Given the description of an element on the screen output the (x, y) to click on. 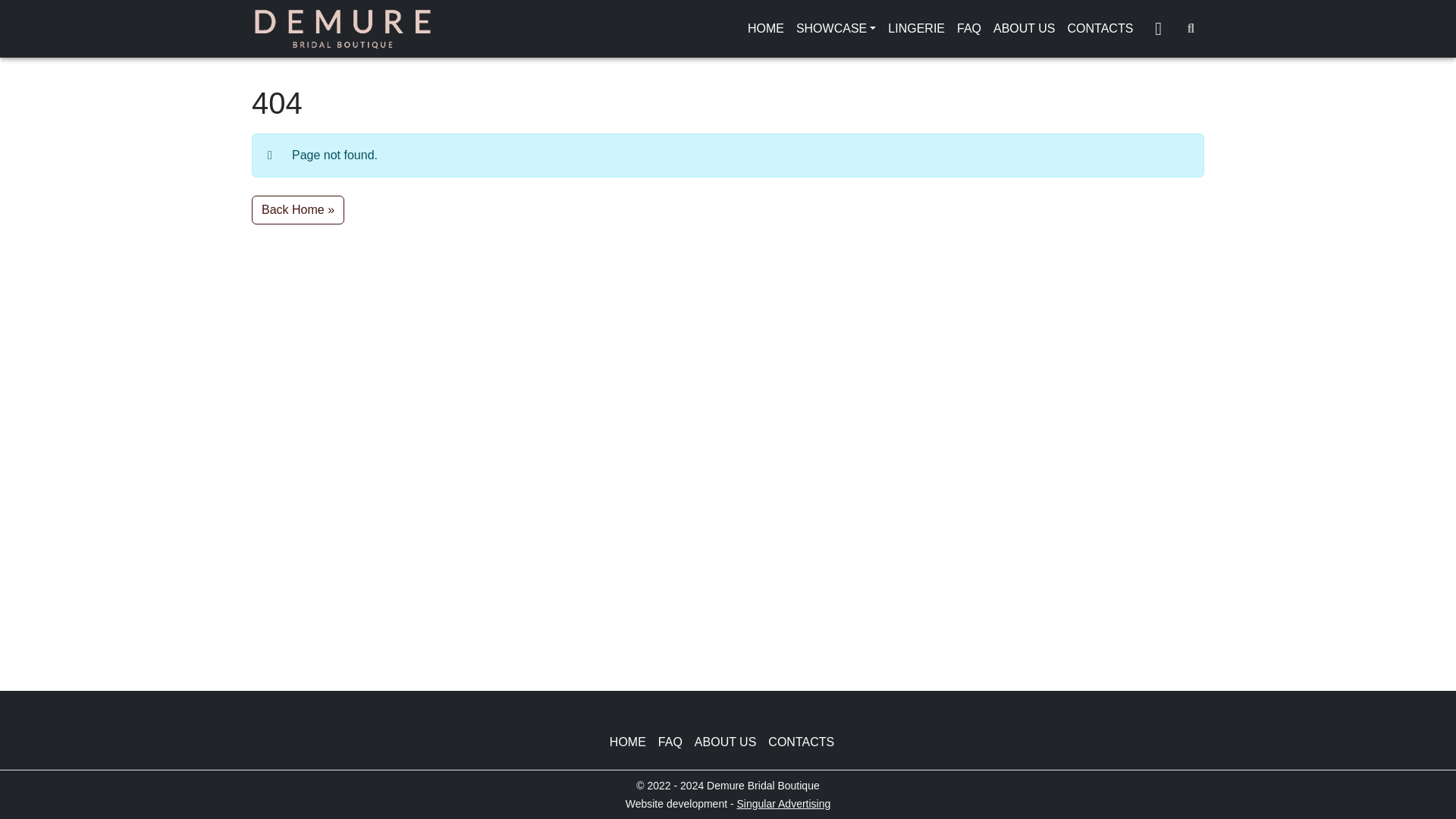
LINGERIE (916, 28)
HOME (634, 742)
ABOUT US (731, 742)
ABOUT US (1024, 28)
FAQ (676, 742)
SHOWCASE (836, 28)
CONTACTS (806, 742)
FAQ (968, 28)
Search (1190, 28)
HOME (765, 28)
